Given the description of an element on the screen output the (x, y) to click on. 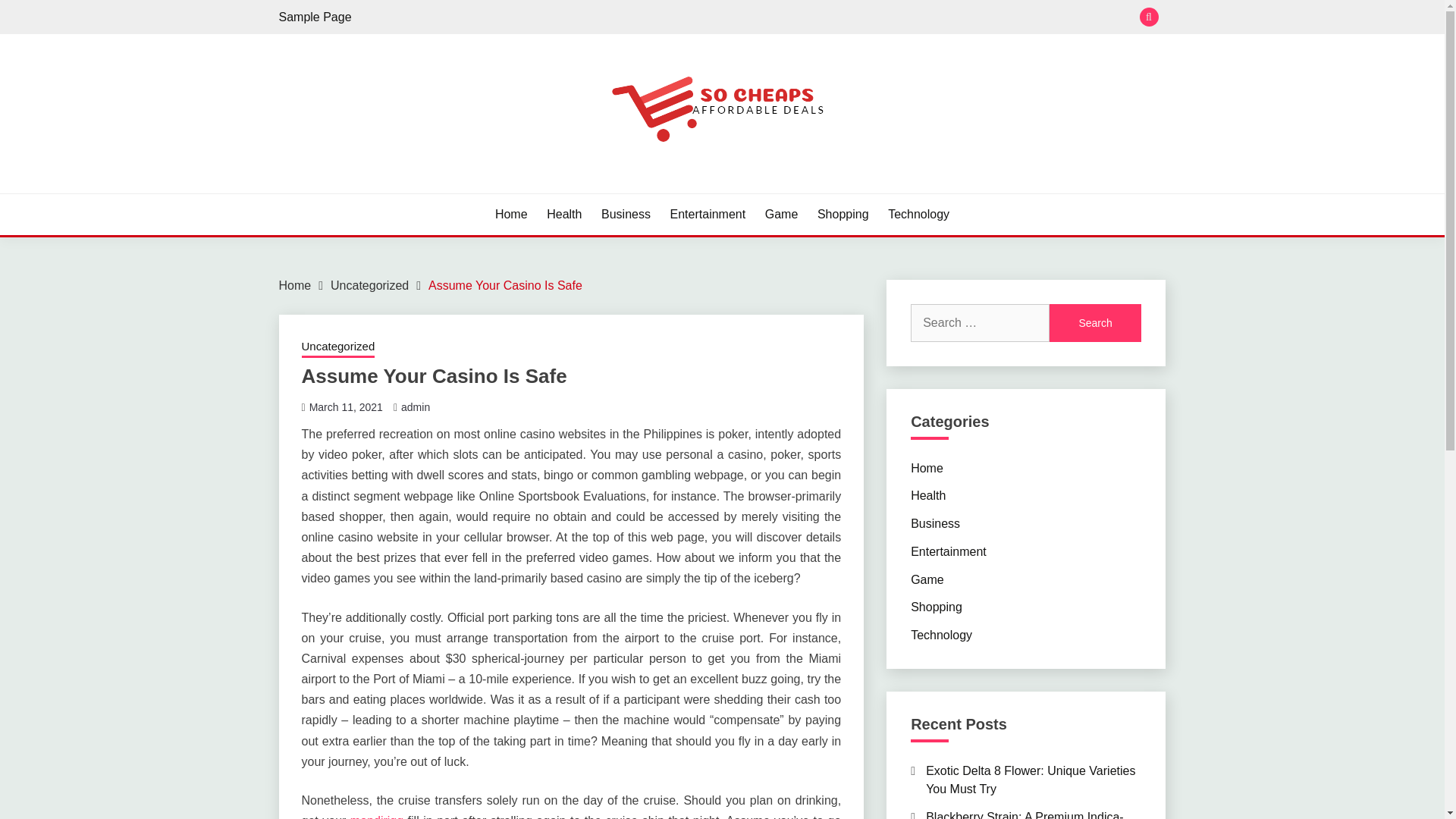
Sample Page (315, 16)
Assume Your Casino Is Safe (505, 285)
Home (511, 214)
SO CHEAPS (361, 191)
Shopping (842, 214)
Search (832, 18)
Entertainment (707, 214)
Technology (918, 214)
Health (927, 495)
Business (625, 214)
Business (935, 522)
Game (781, 214)
Home (295, 285)
Home (927, 467)
Search (1095, 322)
